Given the description of an element on the screen output the (x, y) to click on. 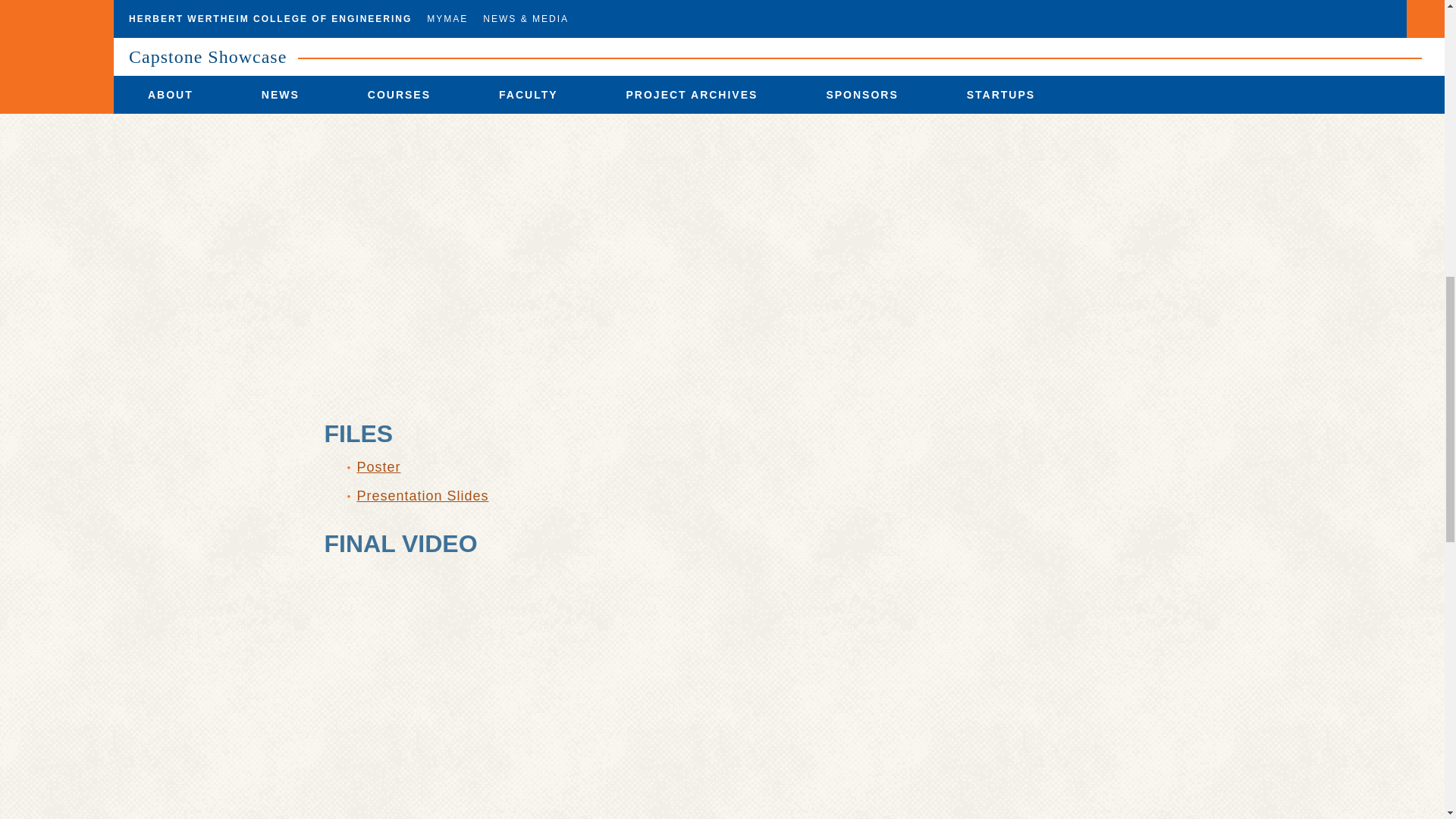
Poster (378, 467)
Presentation Slides (421, 495)
